Given the description of an element on the screen output the (x, y) to click on. 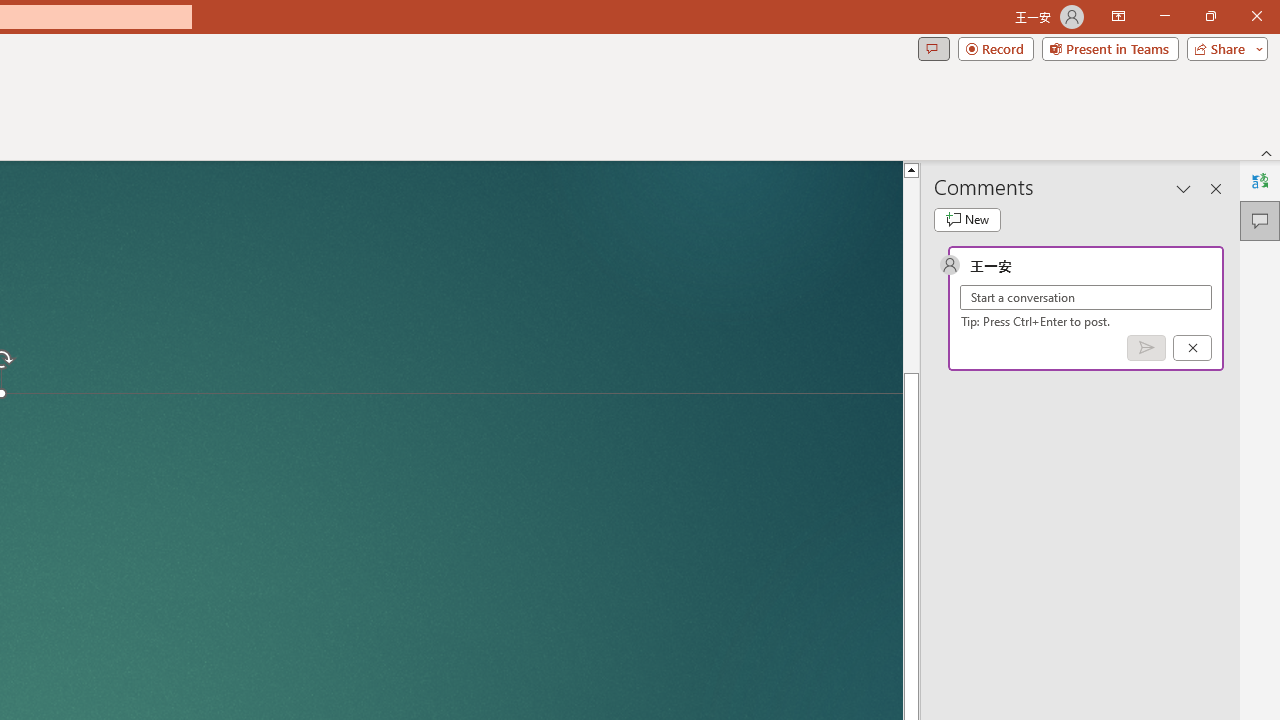
New comment (967, 219)
Post comment (Ctrl + Enter) (1146, 347)
